Given the description of an element on the screen output the (x, y) to click on. 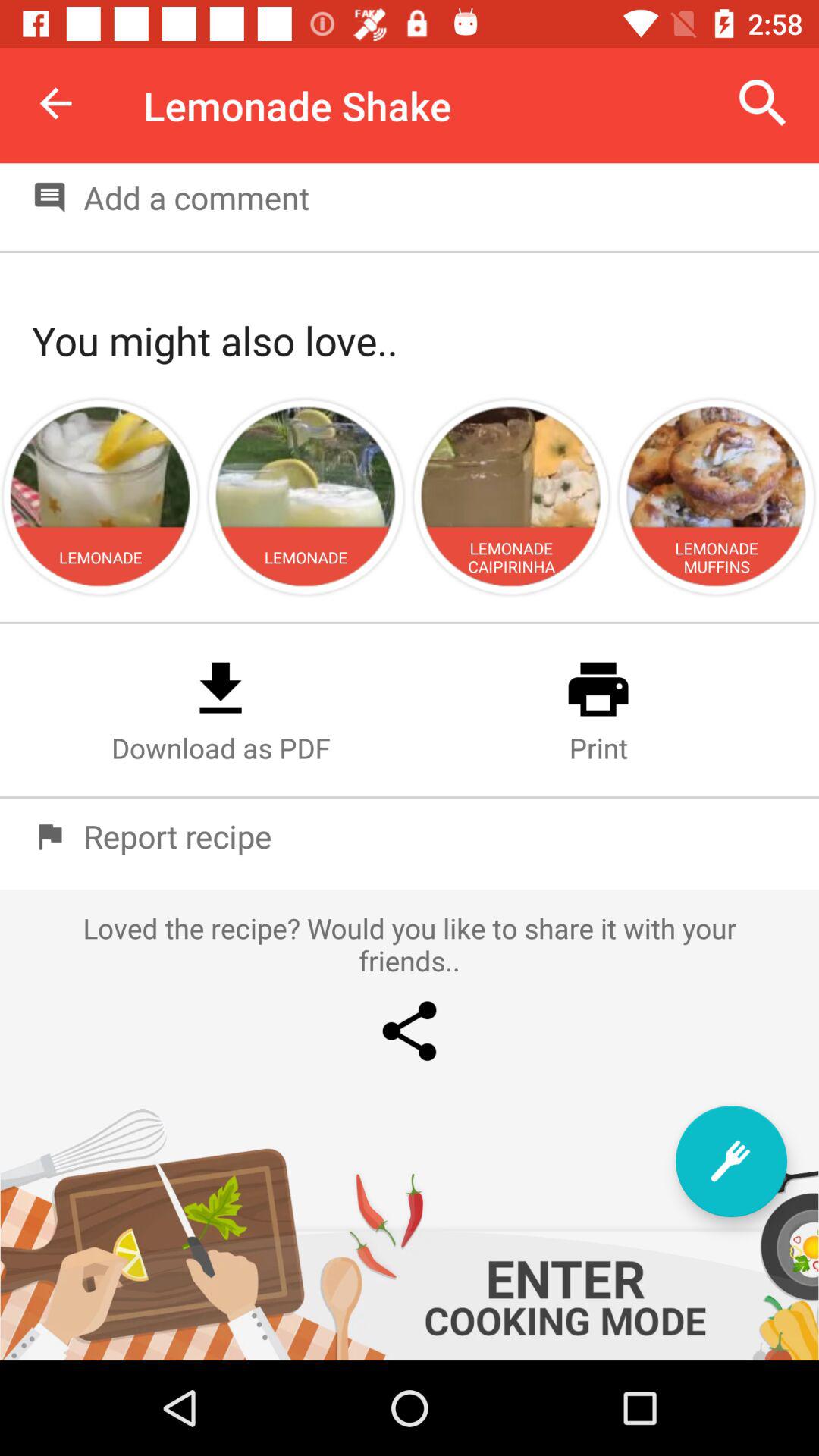
press the icon to the left of lemonade shake icon (55, 103)
